Given the description of an element on the screen output the (x, y) to click on. 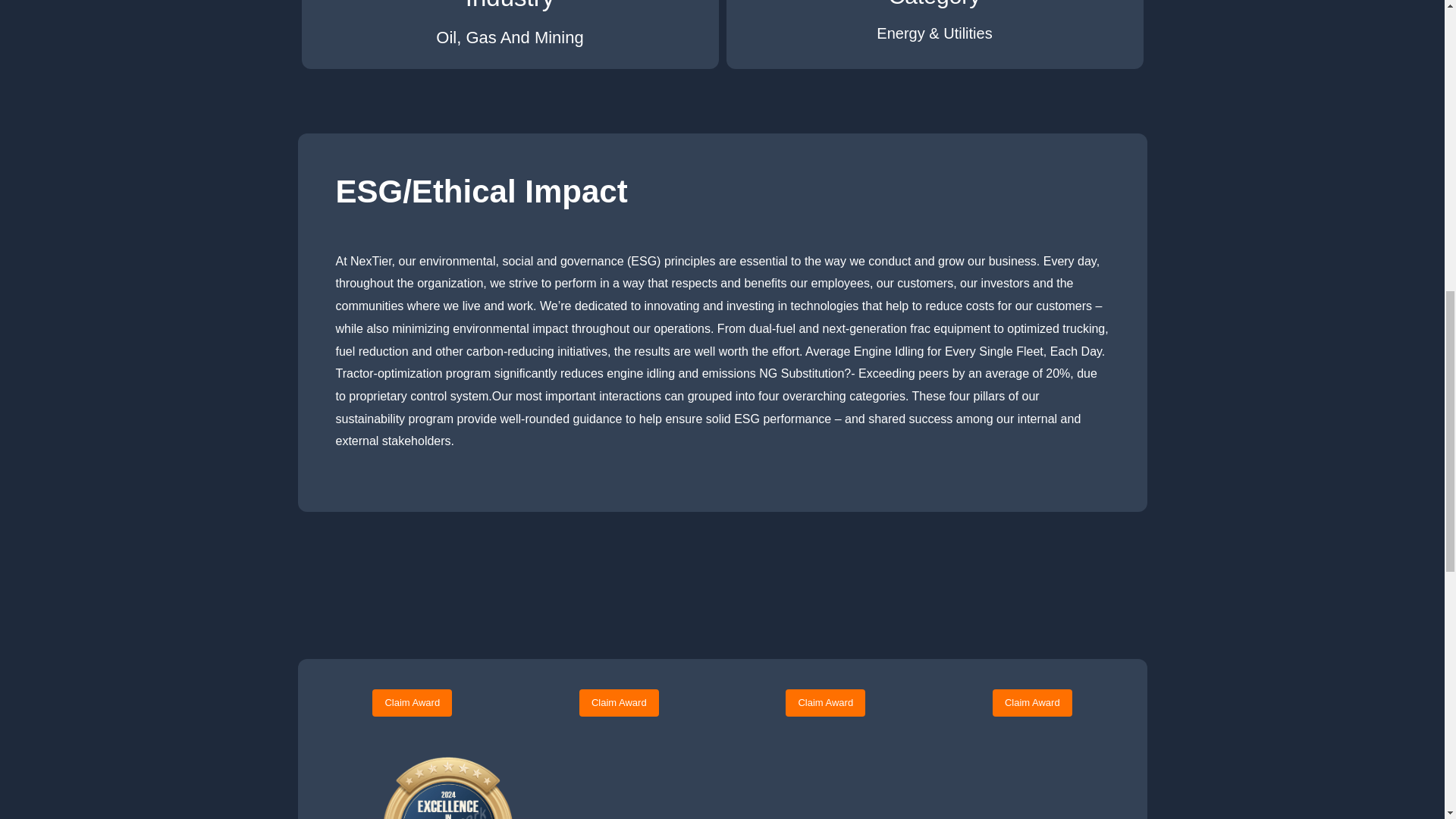
Claim Award (619, 702)
Claim Award (411, 702)
Claim Award (825, 702)
Claim Award (1031, 702)
